Given the description of an element on the screen output the (x, y) to click on. 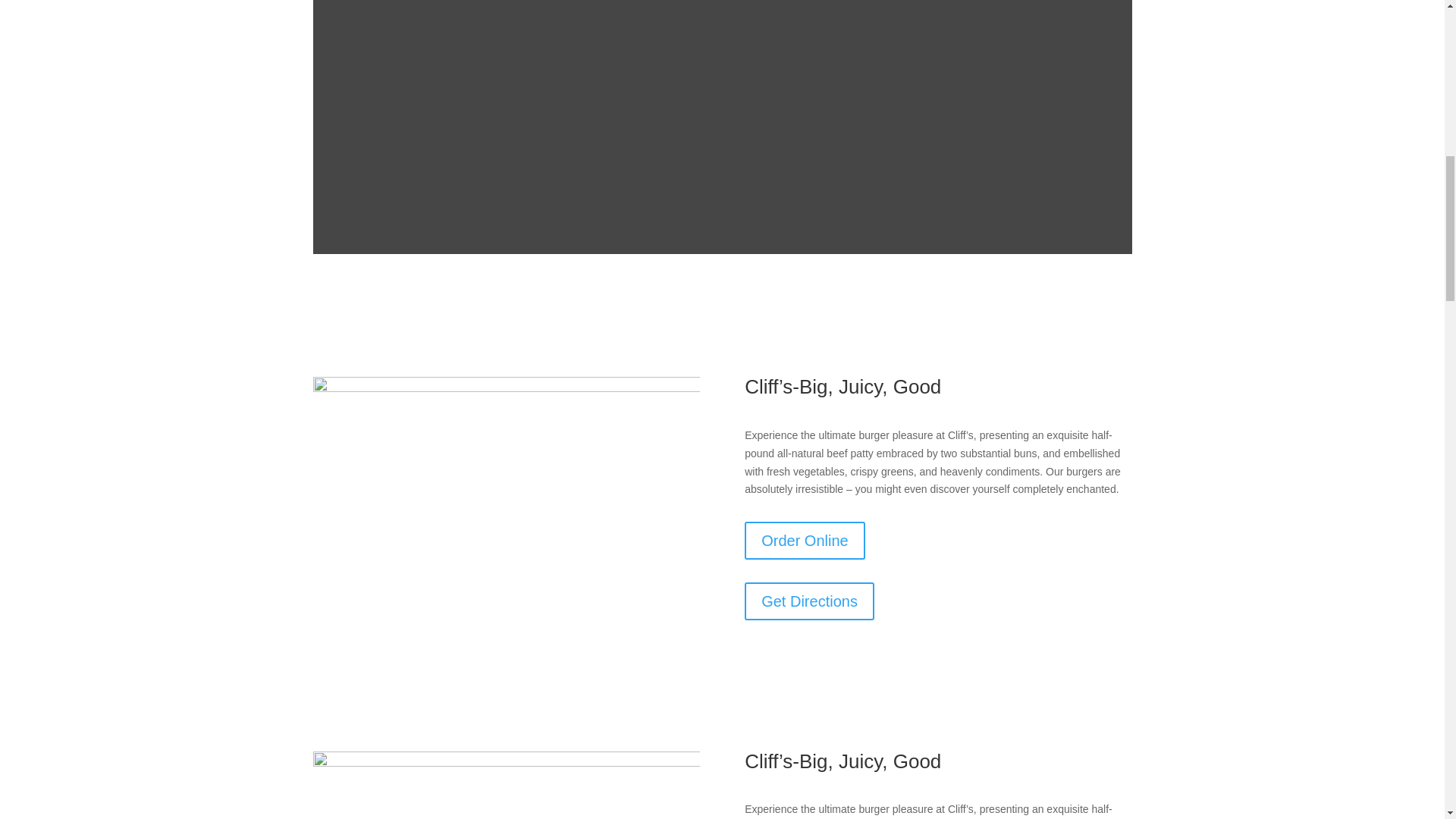
Get Directions (809, 600)
home-mid (505, 785)
Order Online (804, 540)
home-mid (505, 543)
